Given the description of an element on the screen output the (x, y) to click on. 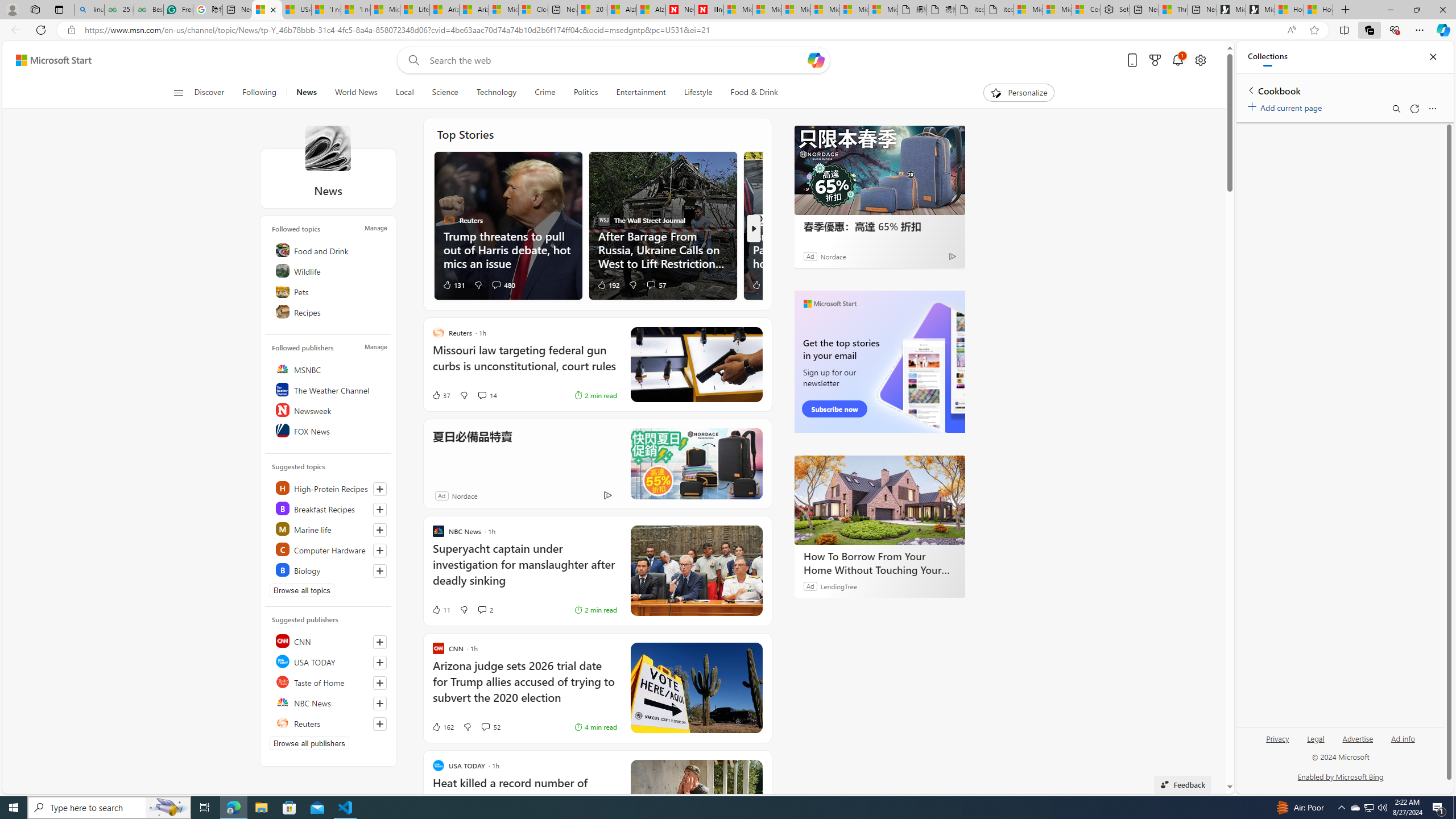
Follow this topic (379, 570)
View comments 480 Comment (502, 284)
Add current page (1286, 105)
37 Like (440, 395)
Newsweek - News, Analysis, Politics, Business, Technology (679, 9)
